Given the description of an element on the screen output the (x, y) to click on. 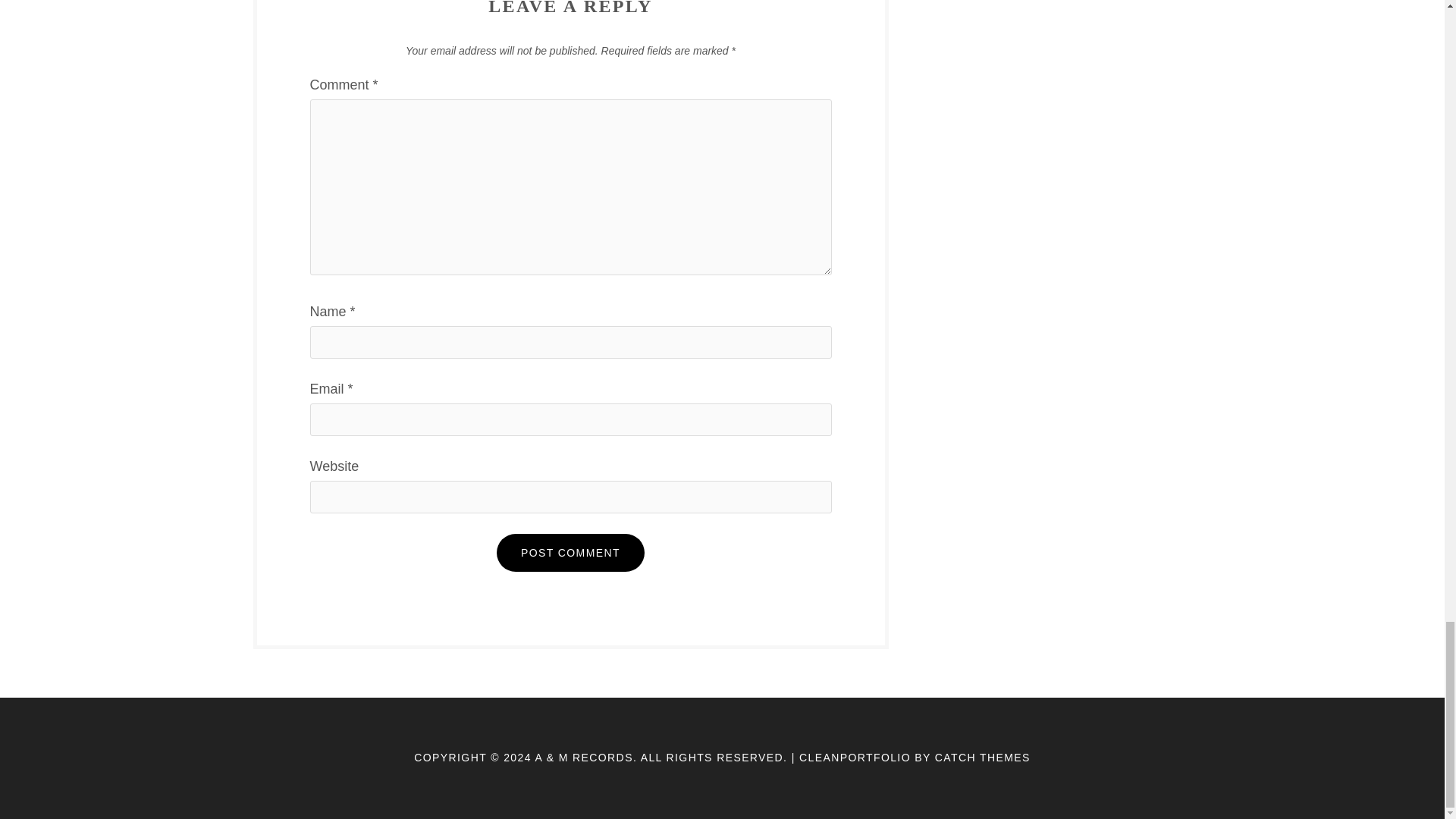
Post Comment (570, 552)
Post Comment (570, 552)
CATCH THEMES (982, 757)
